Given the description of an element on the screen output the (x, y) to click on. 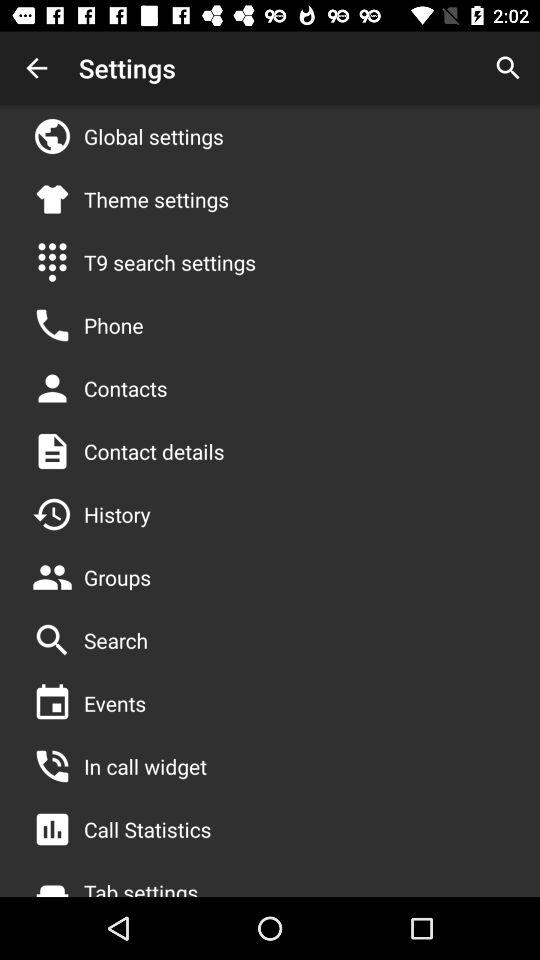
jump to groups item (117, 577)
